Given the description of an element on the screen output the (x, y) to click on. 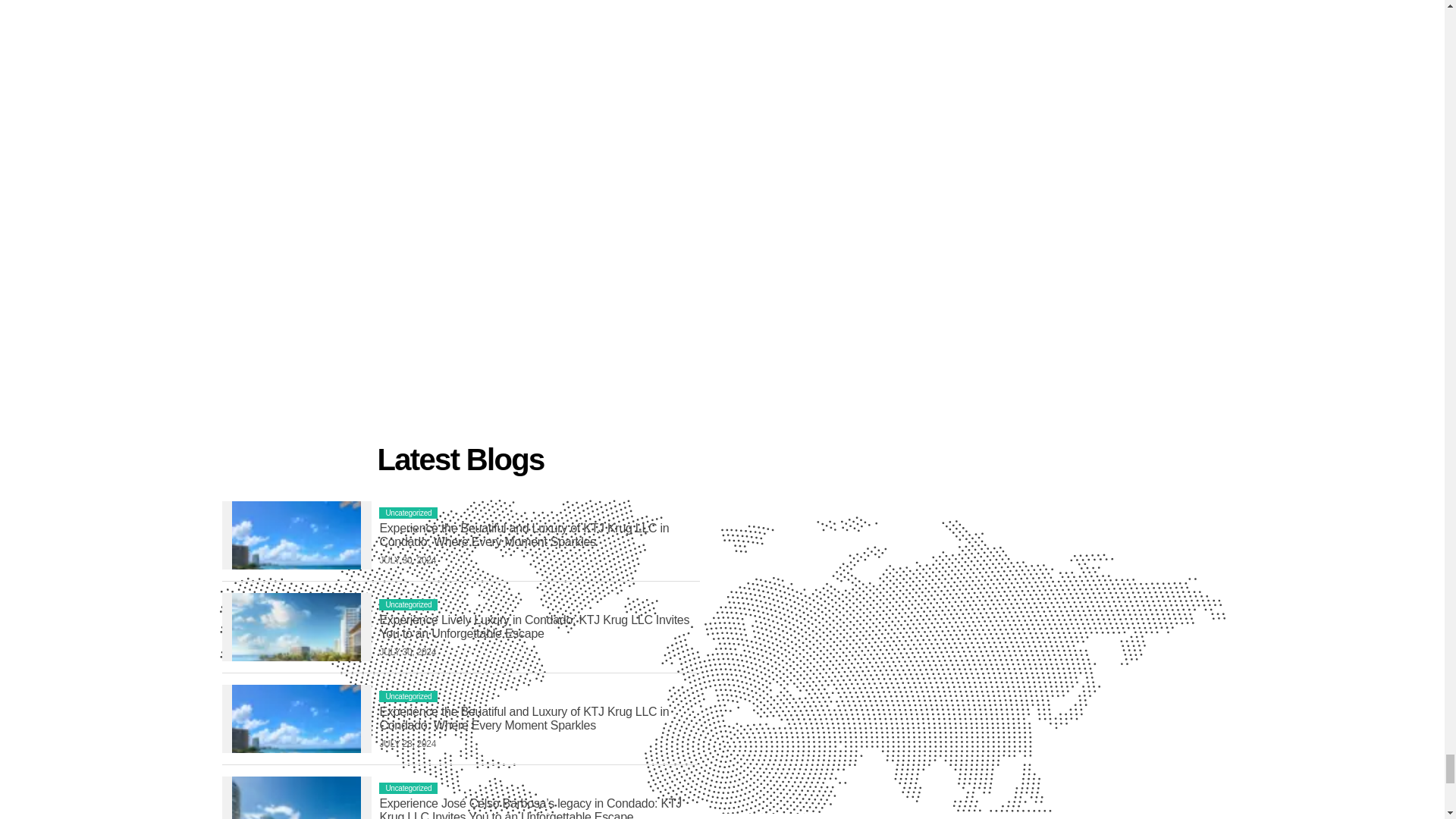
Uncategorized (408, 604)
Uncategorized (408, 512)
Uncategorized (408, 696)
